Given the description of an element on the screen output the (x, y) to click on. 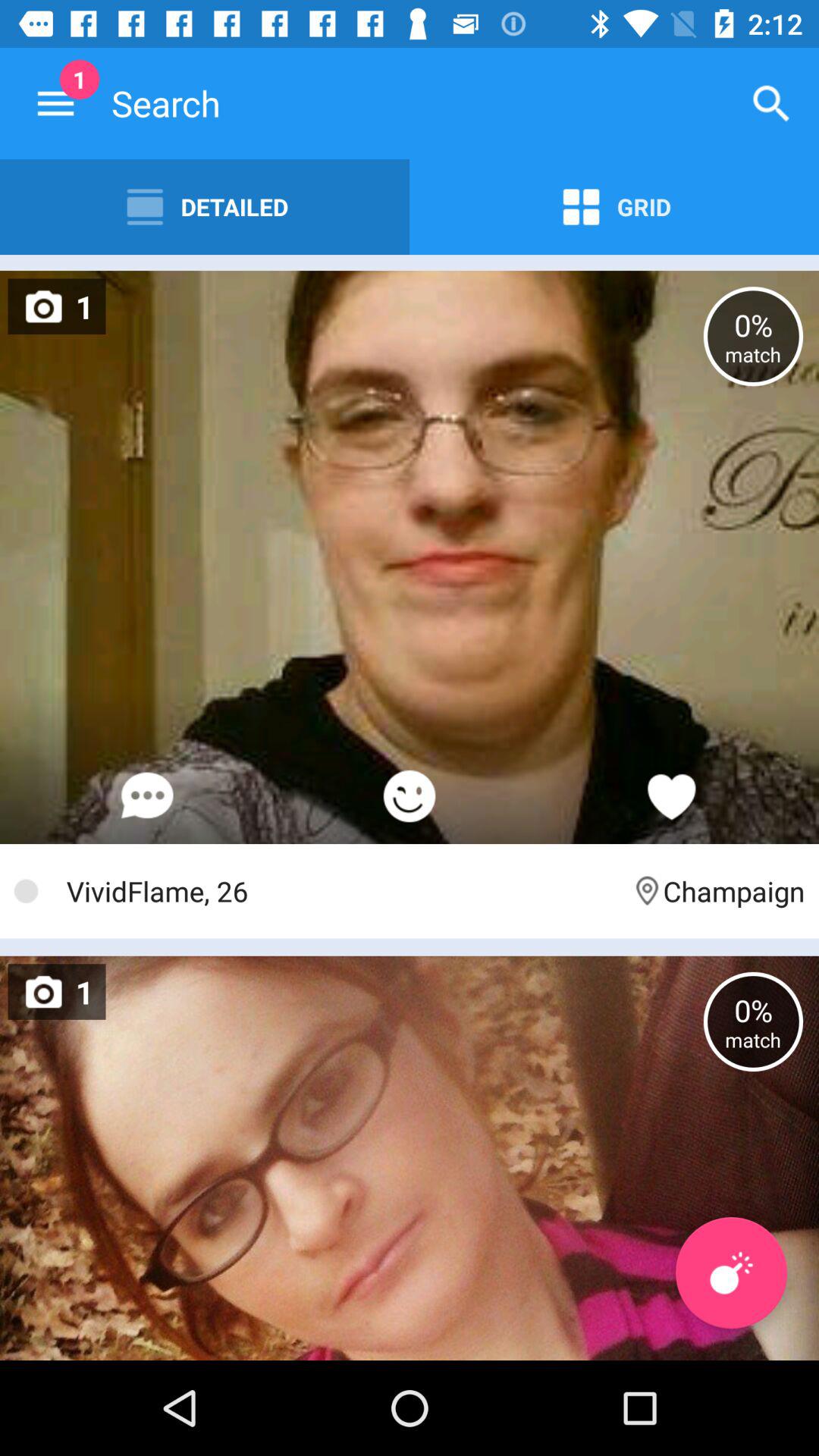
turn on icon to the left of the champaign (341, 891)
